Given the description of an element on the screen output the (x, y) to click on. 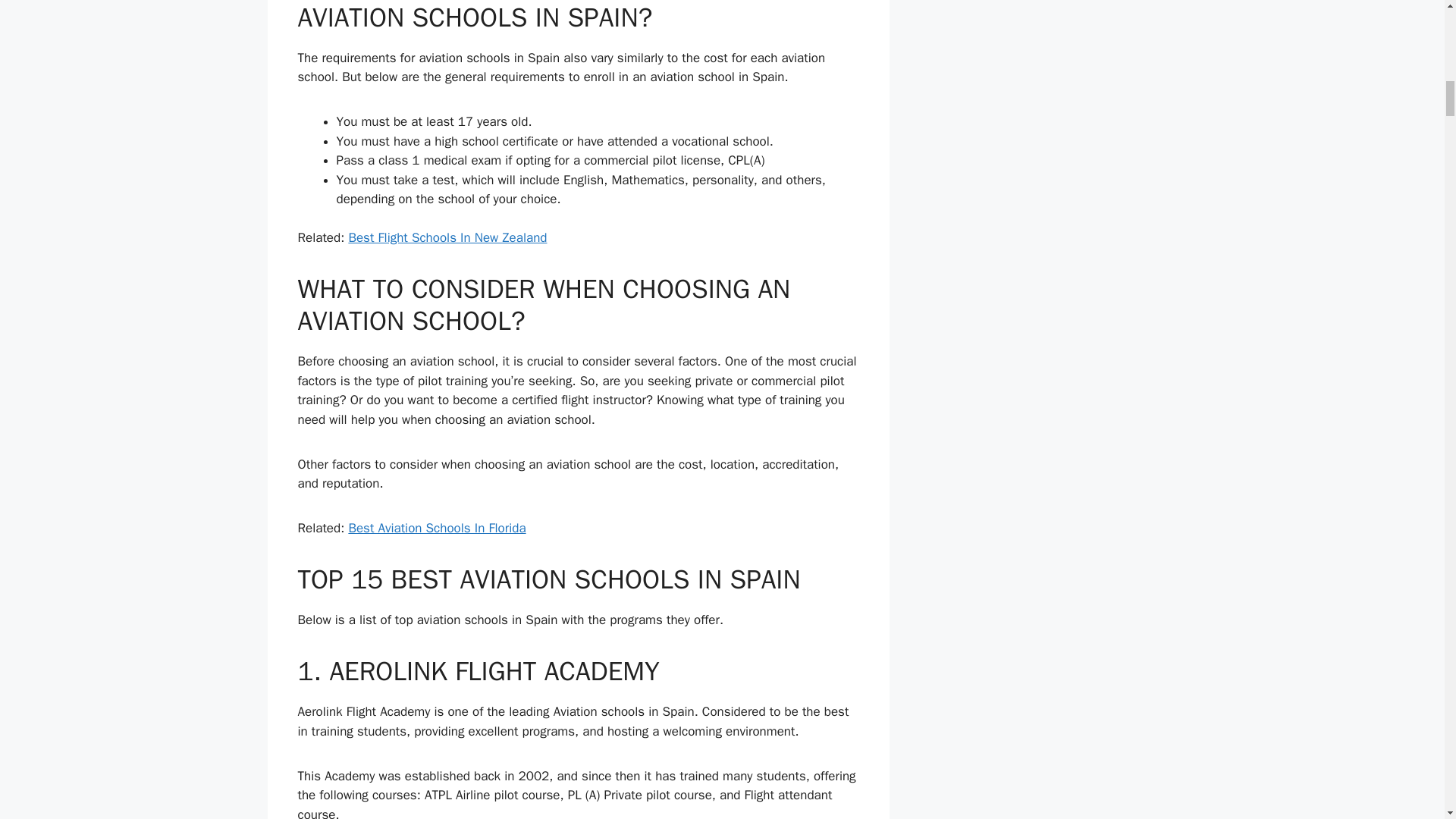
Best Aviation Schools In Florida (436, 528)
Best Flight Schools In New Zealand (447, 237)
